Given the description of an element on the screen output the (x, y) to click on. 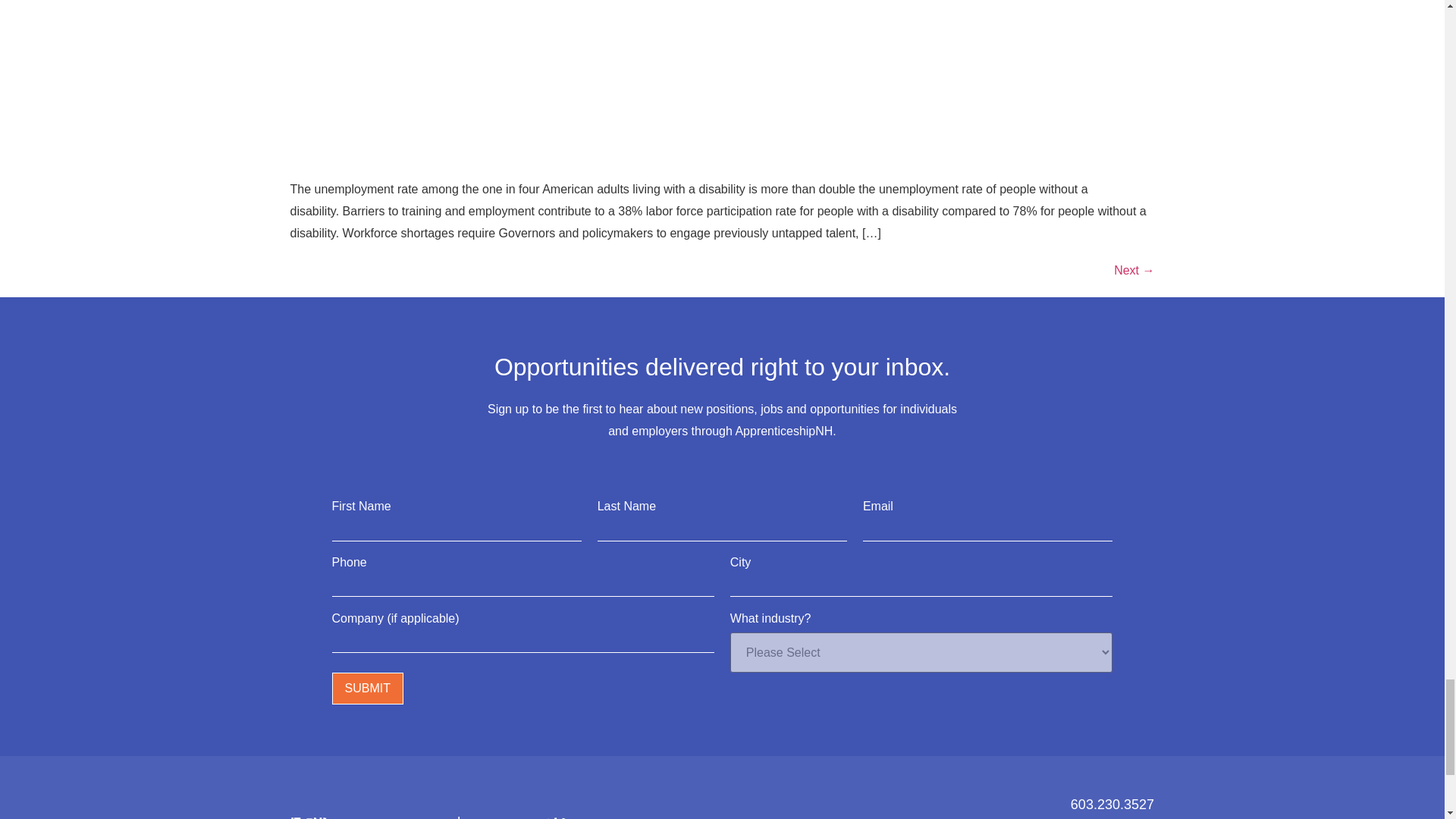
Submit (367, 688)
